Given the description of an element on the screen output the (x, y) to click on. 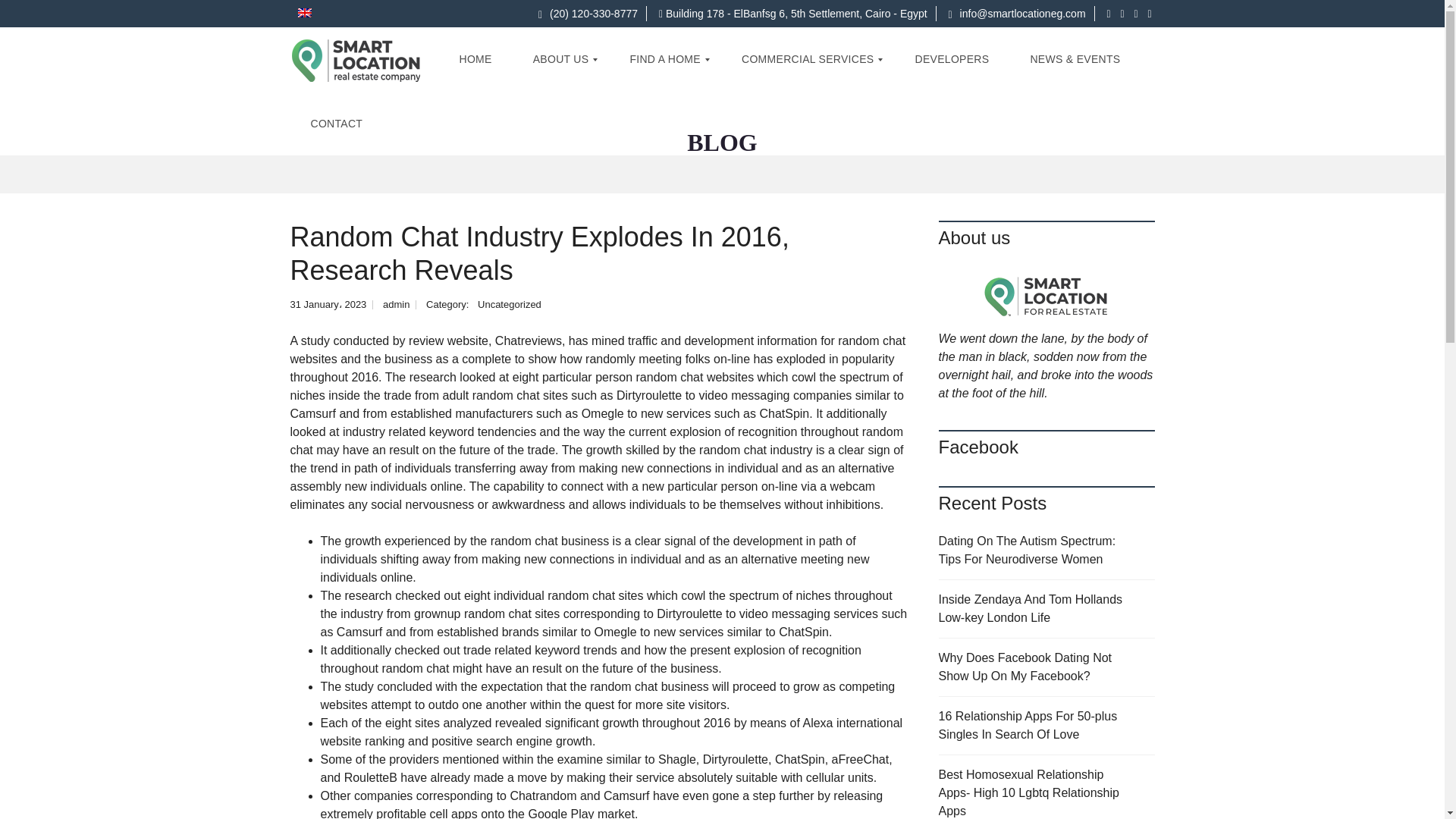
Smart Location (355, 59)
Dating On The Autism Spectrum: Tips For Neurodiverse Women (1046, 550)
COMMERCIAL SERVICES (807, 59)
Uncategorized (509, 304)
ABOUT US (560, 59)
Inside Zendaya And Tom Hollands Low-key London Life (1046, 608)
FIND A HOME (664, 59)
CONTACT (336, 123)
About us (1046, 294)
DEVELOPERS (951, 59)
